Given the description of an element on the screen output the (x, y) to click on. 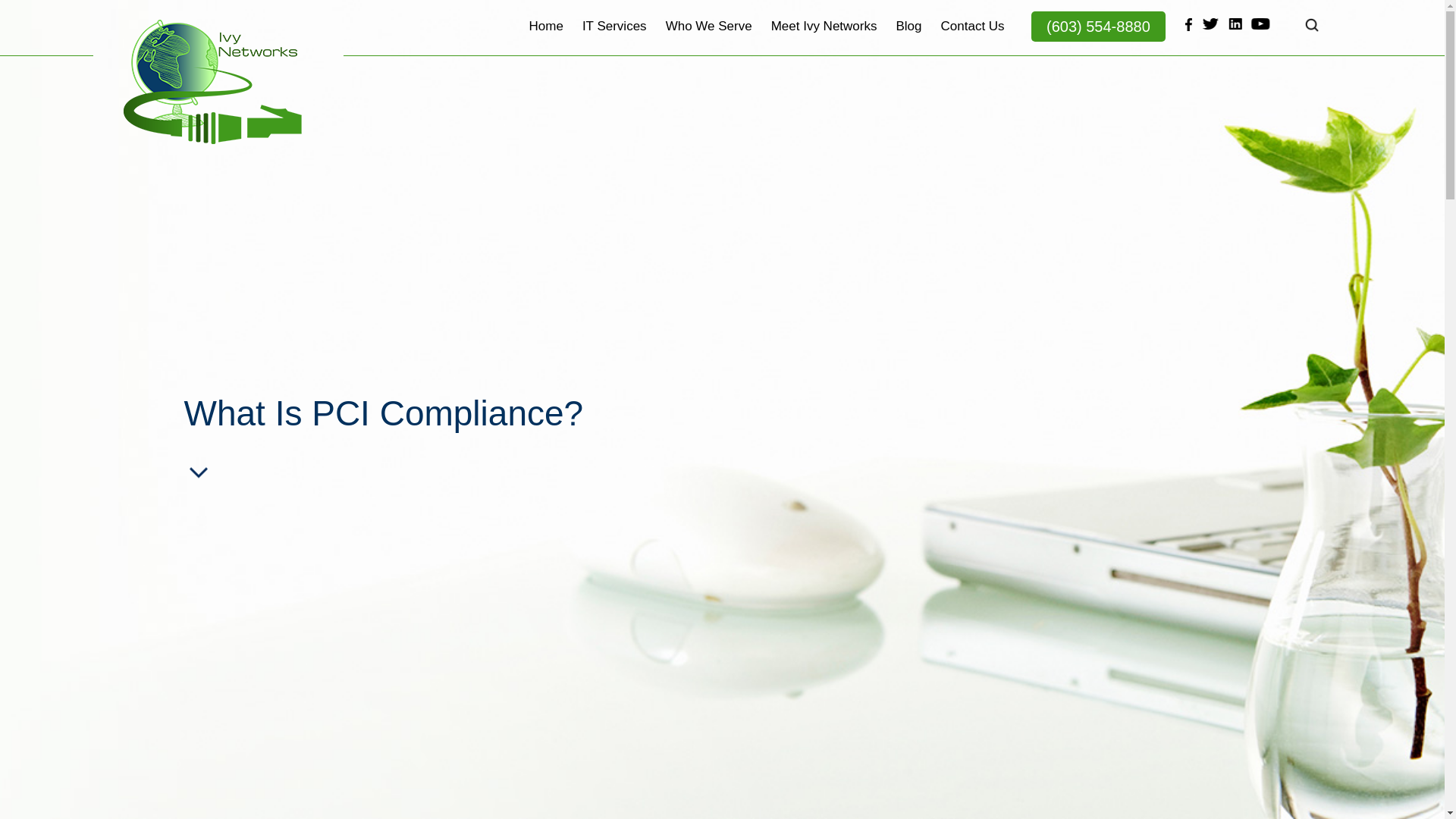
Meet Ivy Networks (824, 37)
Facebook (1185, 24)
Home (546, 37)
IT Services (614, 37)
Contact Us (972, 37)
Youtube (1260, 24)
Who We Serve (708, 37)
Linkedin (1235, 24)
Twitter (1211, 24)
